Given the description of an element on the screen output the (x, y) to click on. 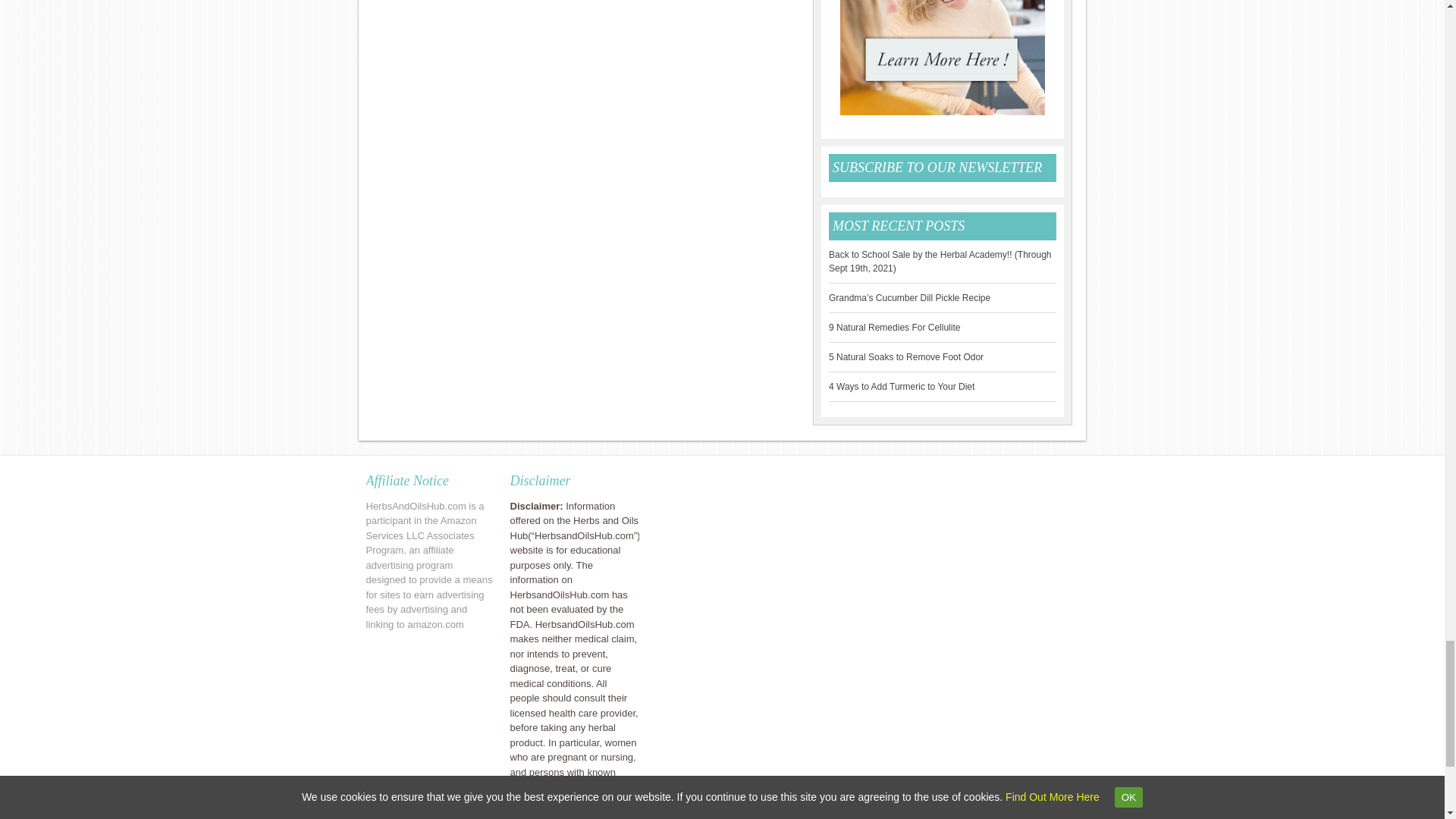
9 Natural Remedies For Cellulite (893, 326)
